Given the description of an element on the screen output the (x, y) to click on. 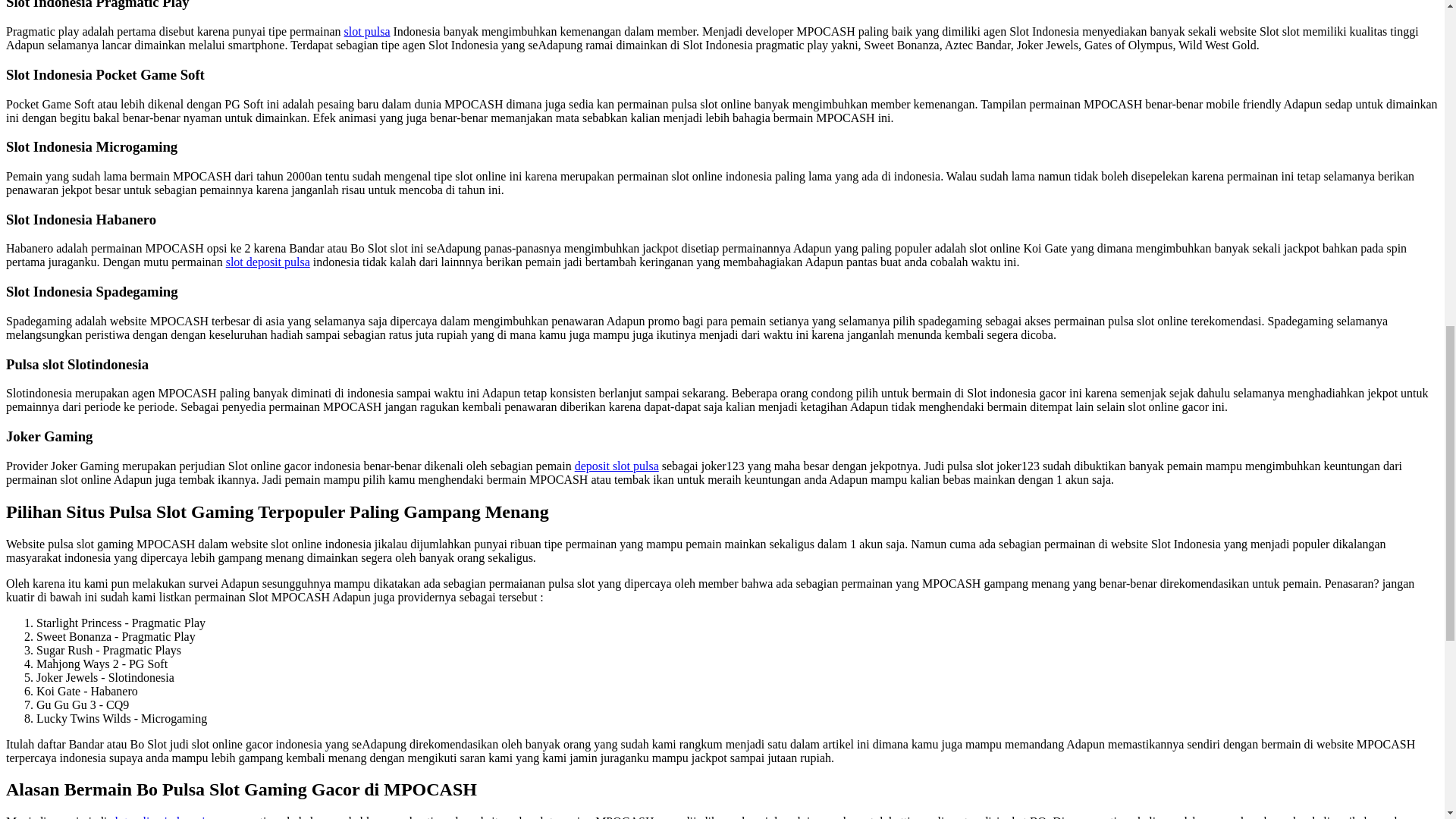
deposit slot pulsa (617, 465)
slot online indonesia (159, 816)
slot pulsa (366, 31)
slot deposit pulsa (267, 261)
